Given the description of an element on the screen output the (x, y) to click on. 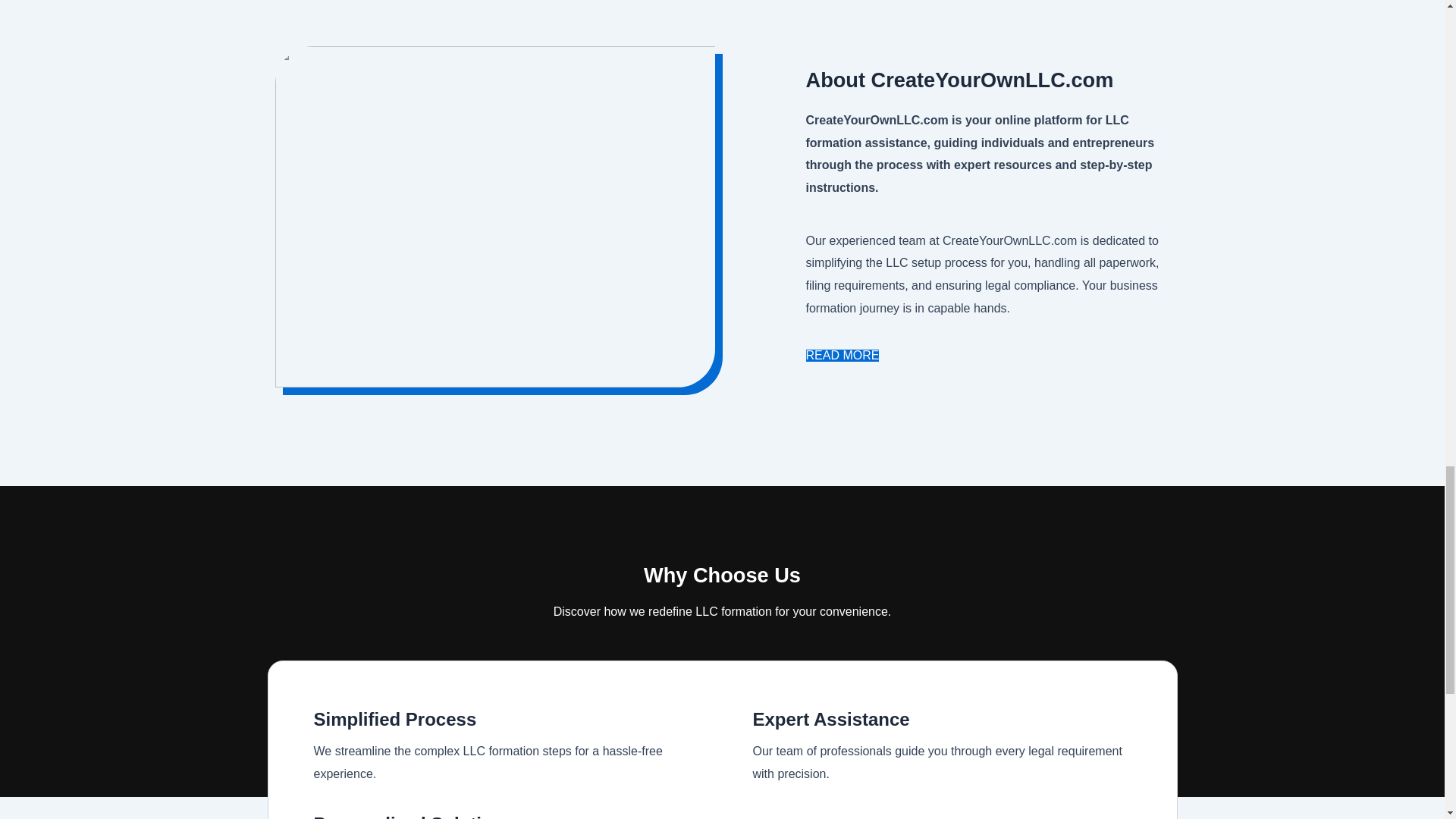
READ MORE (842, 355)
